Given the description of an element on the screen output the (x, y) to click on. 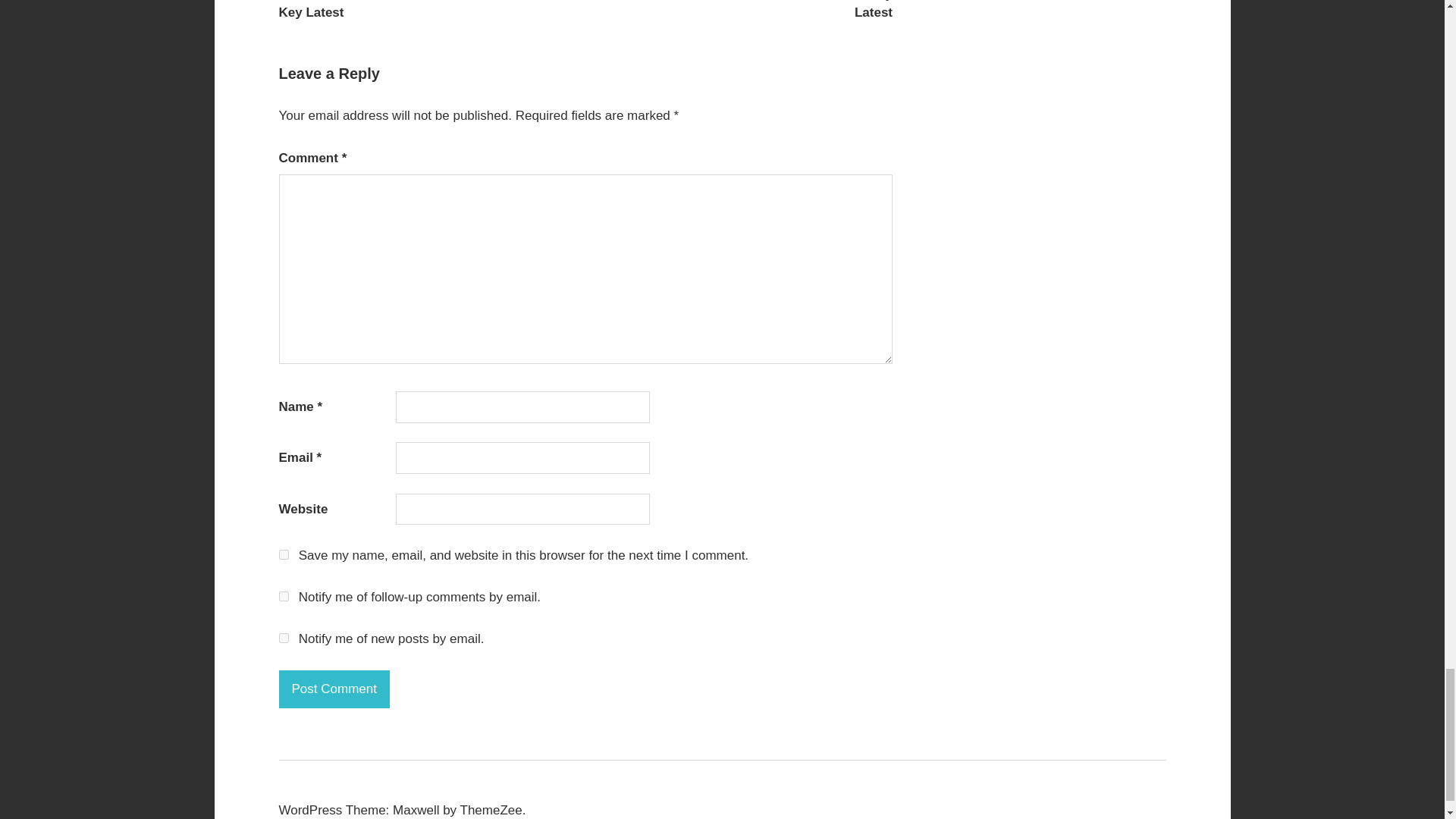
subscribe (283, 637)
Post Comment (334, 689)
subscribe (283, 596)
Post Comment (334, 689)
yes (283, 554)
